Given the description of an element on the screen output the (x, y) to click on. 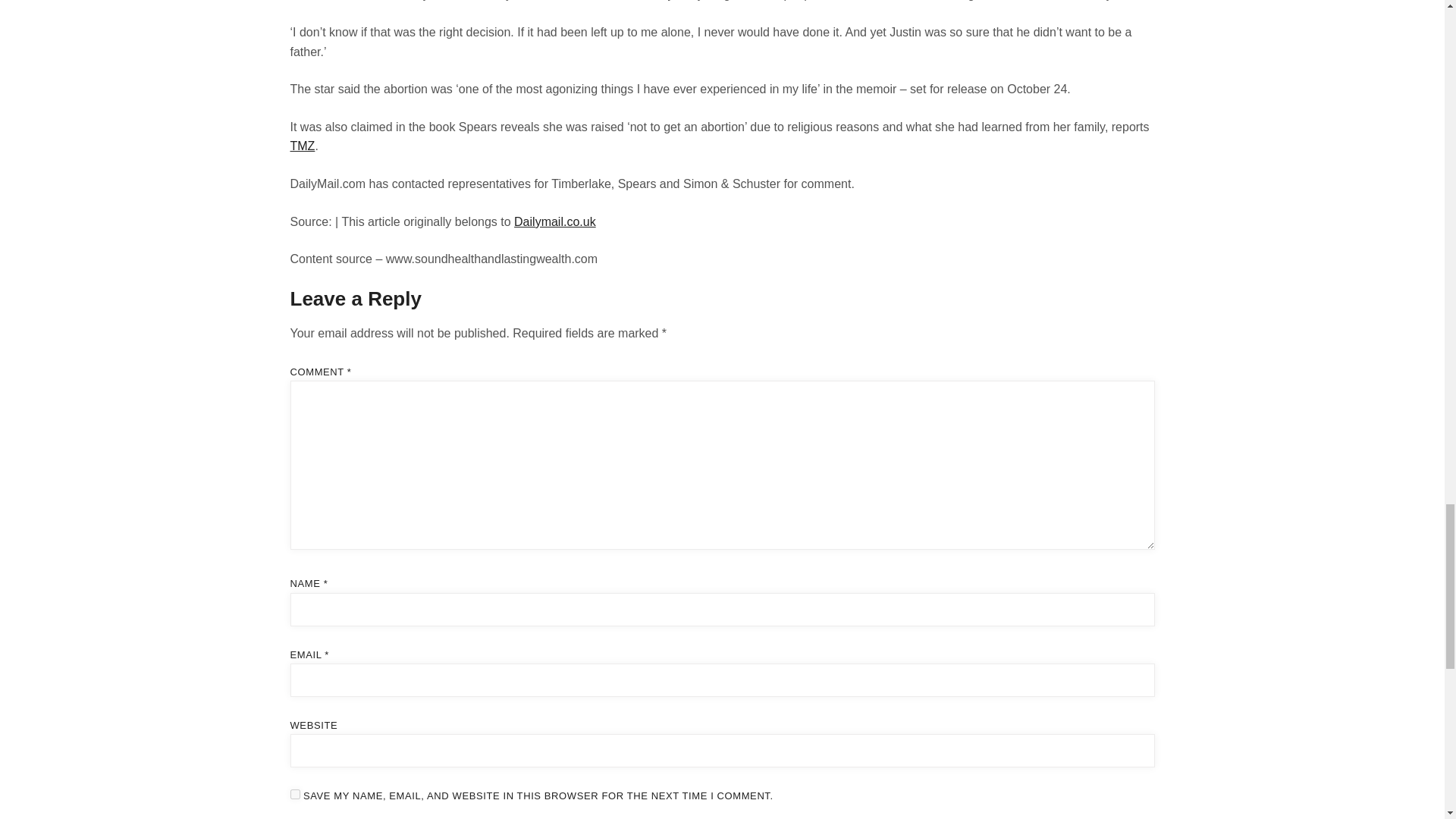
TMZ (301, 145)
yes (294, 794)
Dailymail.co.uk (554, 221)
